Given the description of an element on the screen output the (x, y) to click on. 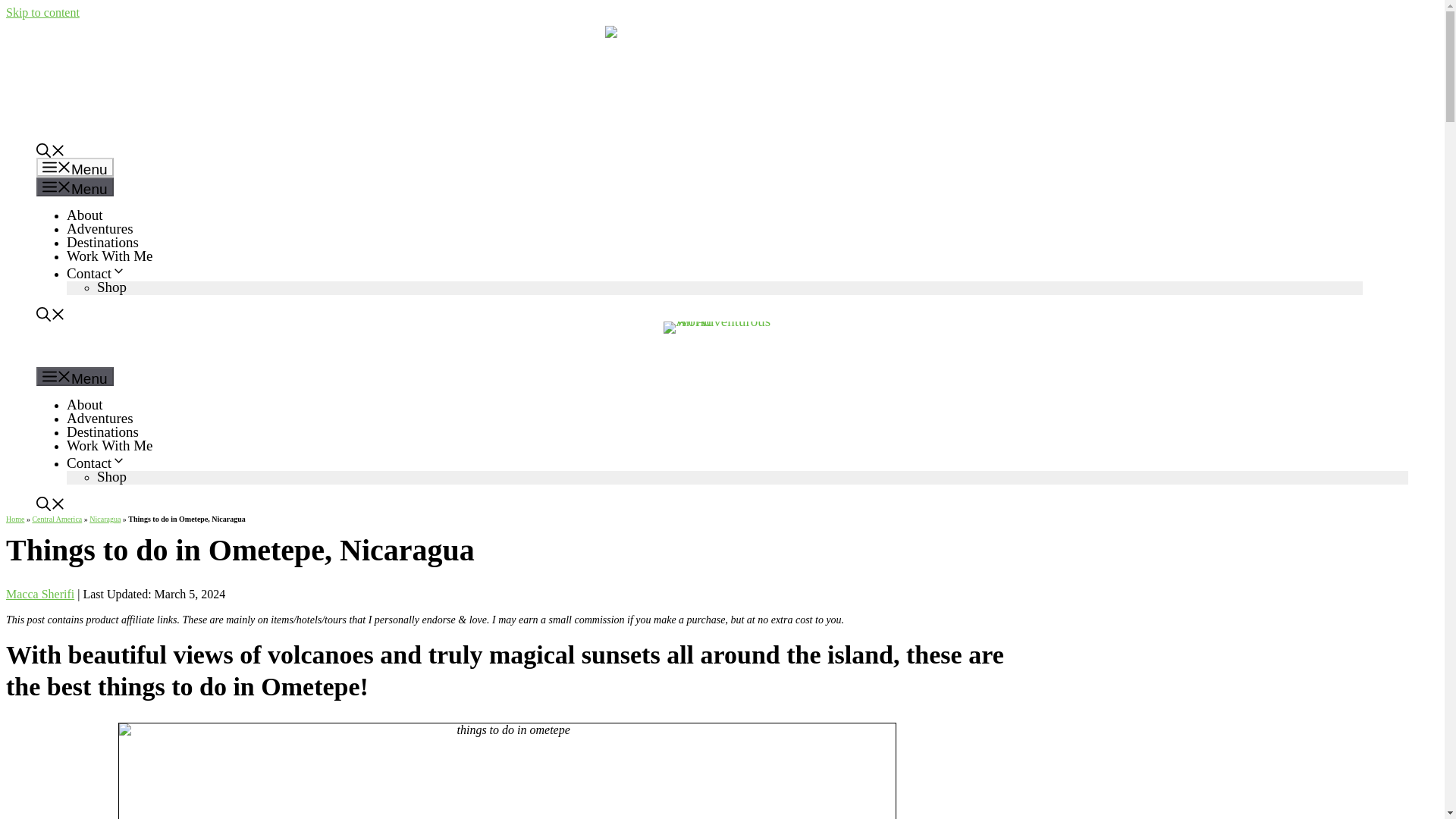
Contact (95, 273)
Shop (111, 286)
Home (14, 519)
Central America (56, 519)
Adventures (99, 228)
Work With Me (109, 255)
View all posts by Macca Sherifi (39, 594)
An Adventurous World (721, 343)
Menu (74, 186)
About (84, 214)
